Given the description of an element on the screen output the (x, y) to click on. 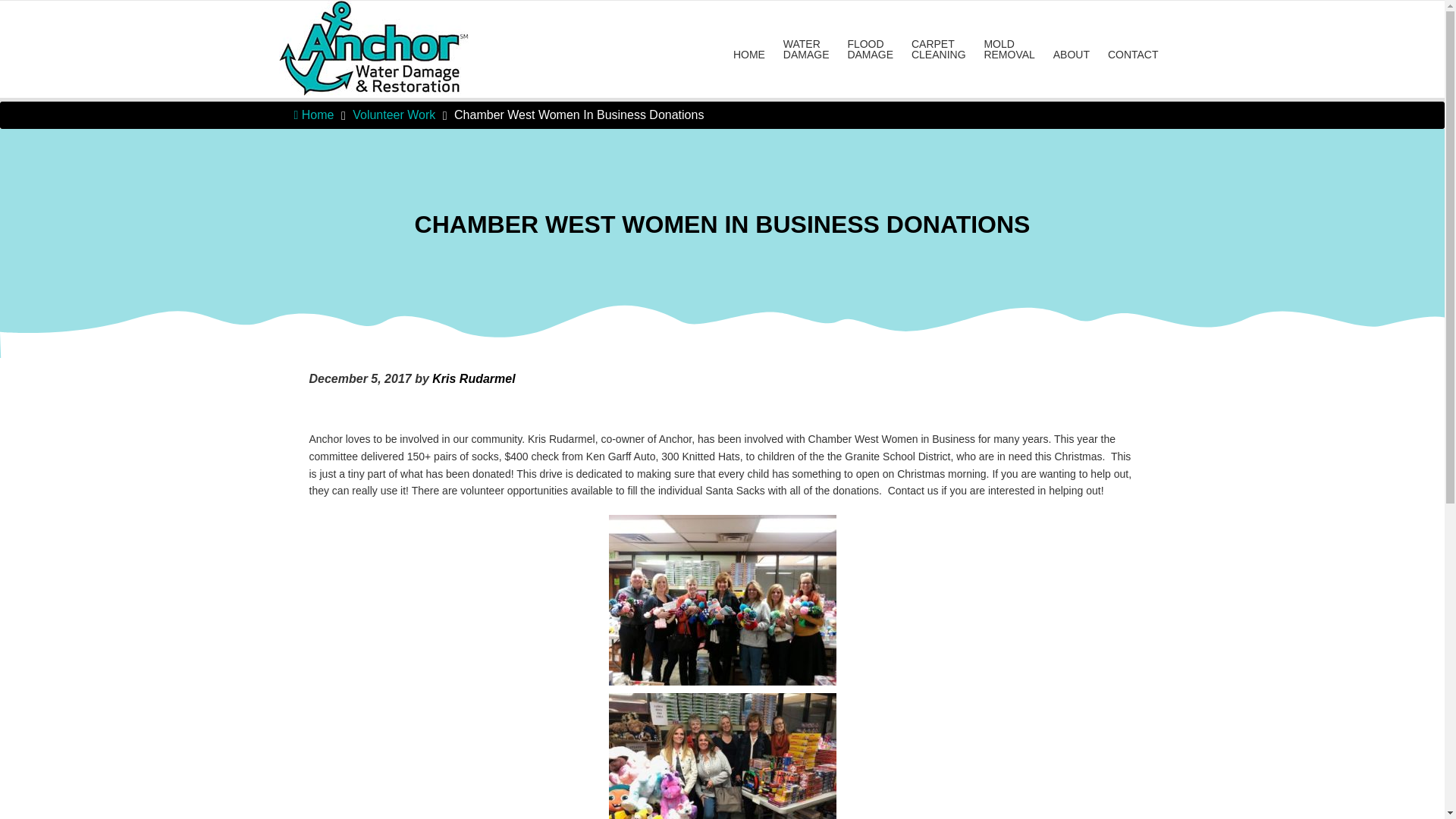
Volunteer Work (393, 114)
Kris Rudarmel (473, 378)
Home (314, 114)
Anchor Water Damage Restoration (360, 20)
